Given the description of an element on the screen output the (x, y) to click on. 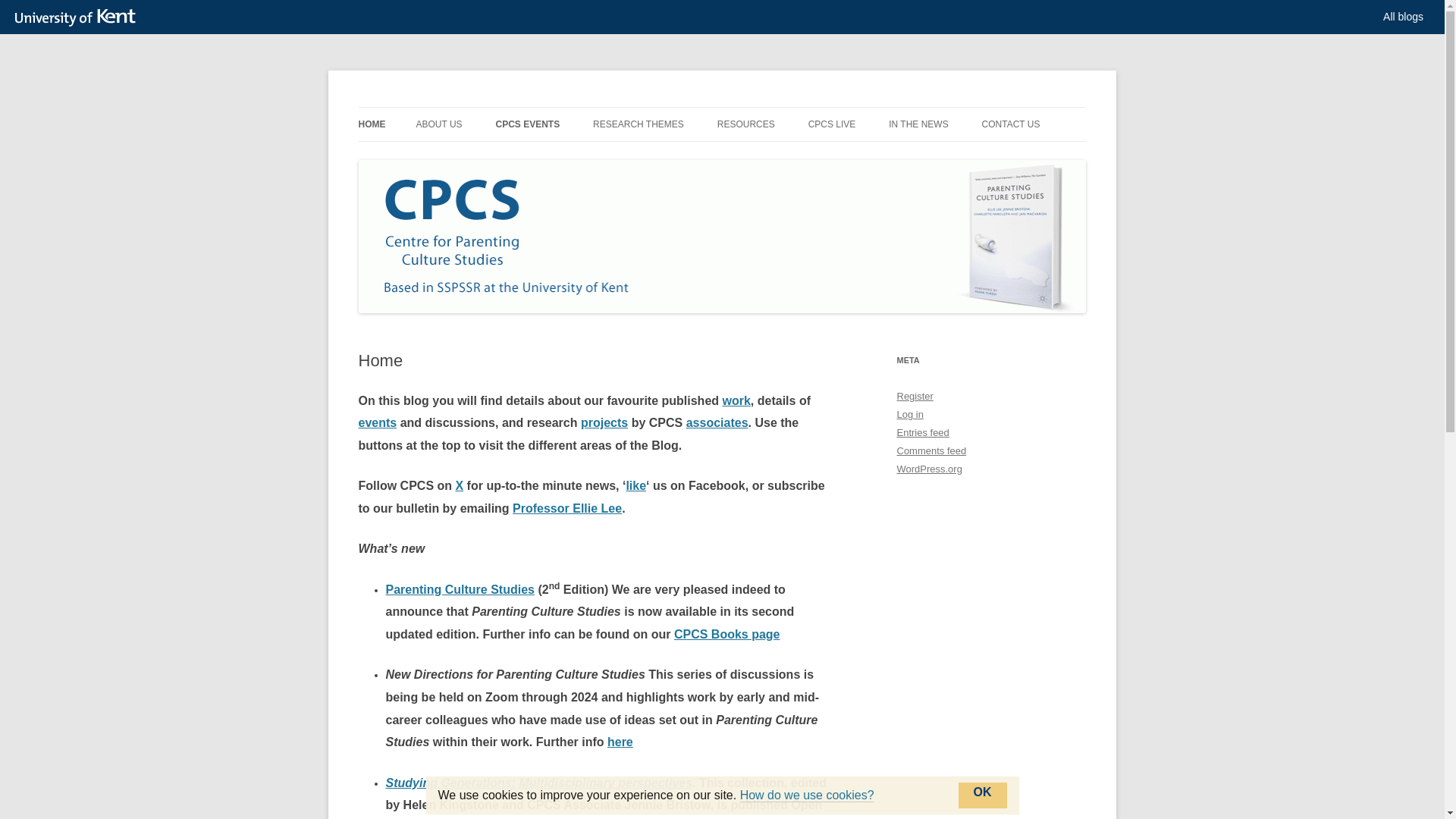
Centre for Parenting Culture Studies (528, 106)
10 YEAR ANNIVERSARY (490, 155)
ABOUT US (437, 123)
All blogs (1403, 16)
FORTHCOMING EVENTS (570, 155)
OK (982, 795)
University of Kent website homepage (78, 18)
University of Kent (78, 18)
CPCS EVENTS (527, 123)
How do we use cookies? (807, 795)
